Given the description of an element on the screen output the (x, y) to click on. 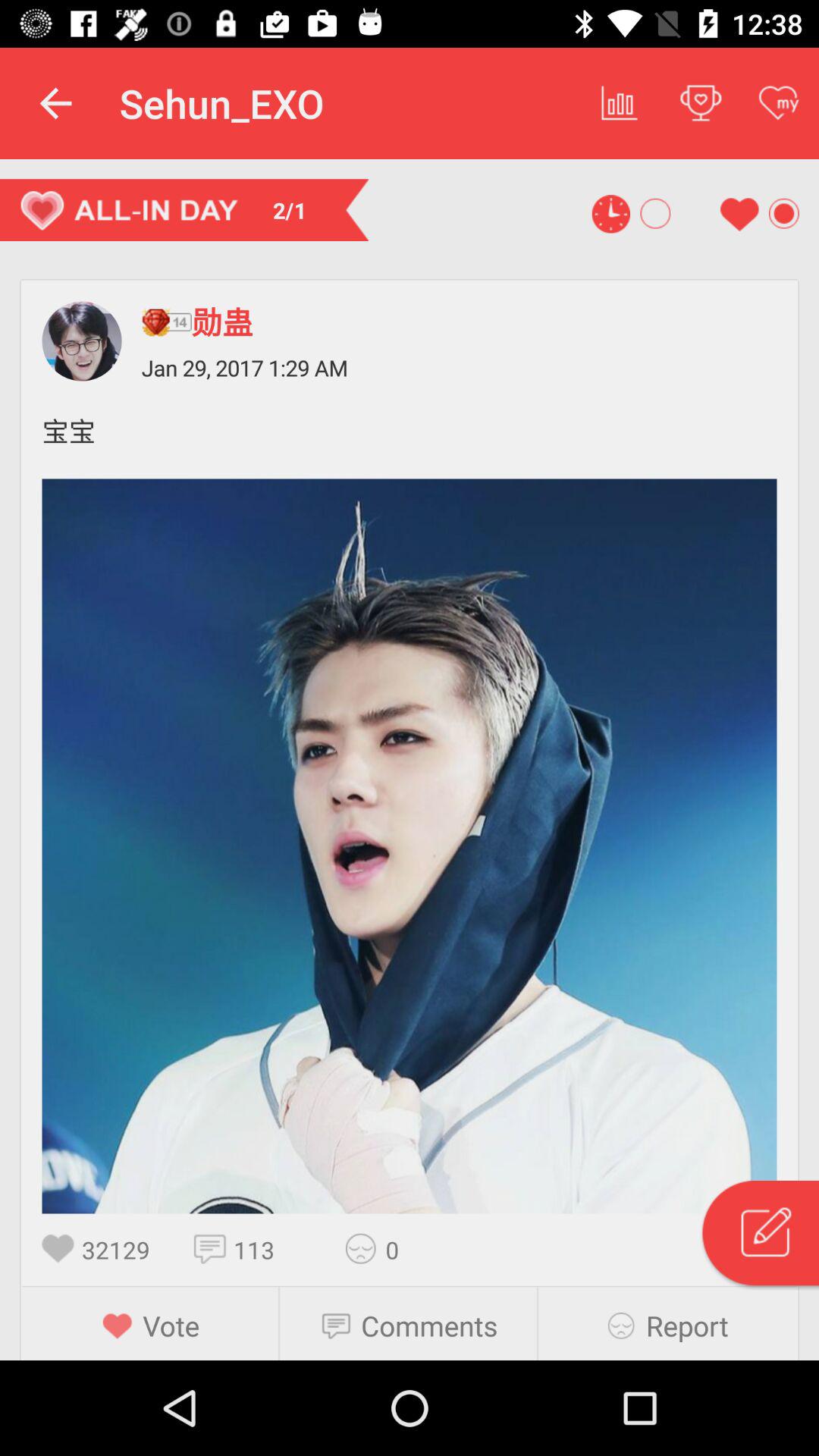
launch item to the right of sehun_exo icon (619, 103)
